Given the description of an element on the screen output the (x, y) to click on. 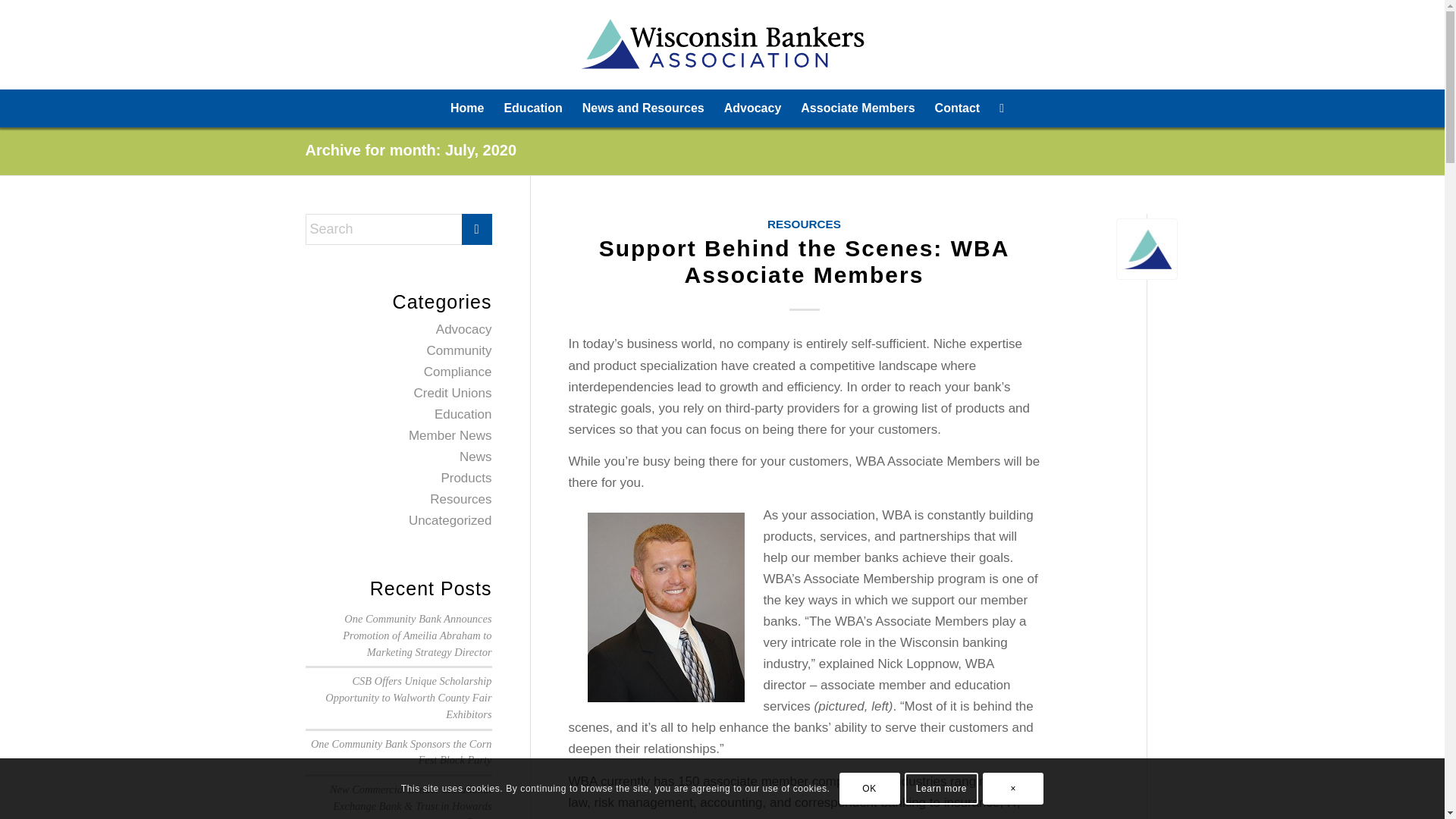
Wisconsin Banking Industry Vendors (857, 108)
Wisconsin Bank Industry Advocacy (753, 108)
Contact Wisconsin Banking Industry (957, 108)
Compliance (457, 371)
Wisconsin Bankers Association (467, 108)
Wisconsin-Bankers-Association-logo (722, 44)
Advocacy (463, 329)
Advocacy (753, 108)
Banking News and Resources (643, 108)
Contact (957, 108)
